Given the description of an element on the screen output the (x, y) to click on. 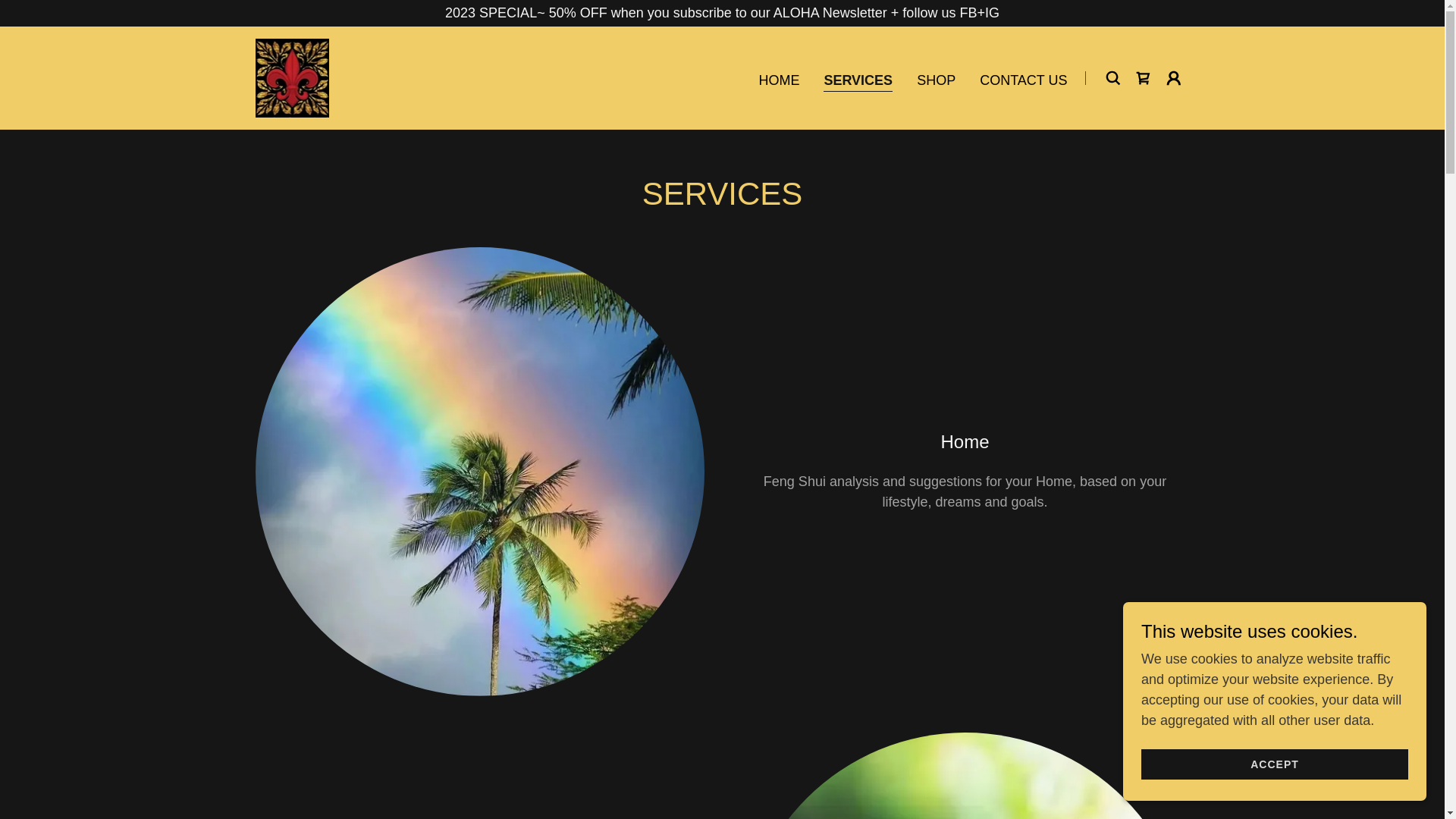
CONTACT US (1023, 80)
ACCEPT (1274, 764)
SHOP (935, 80)
SERVICES (858, 81)
HOME (778, 80)
